Given the description of an element on the screen output the (x, y) to click on. 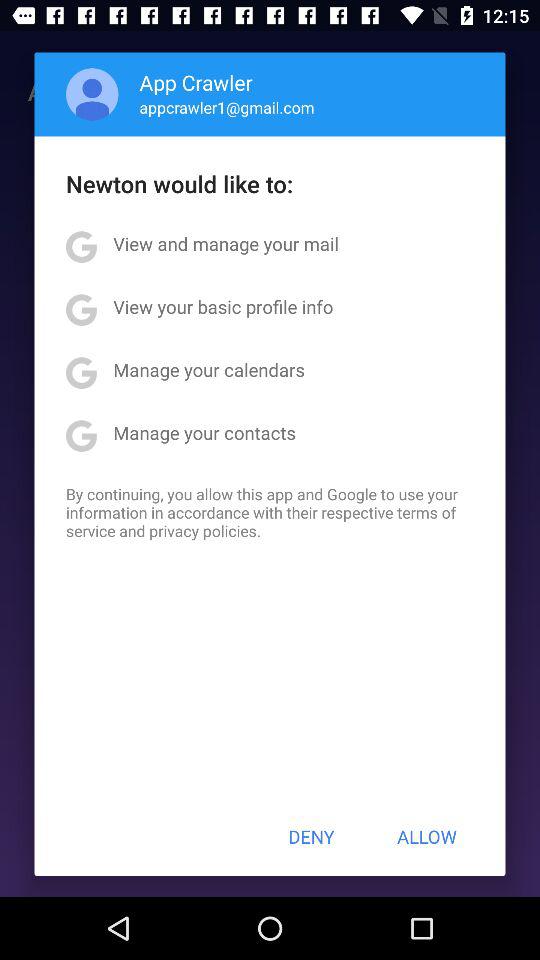
swipe to app crawler app (195, 82)
